Given the description of an element on the screen output the (x, y) to click on. 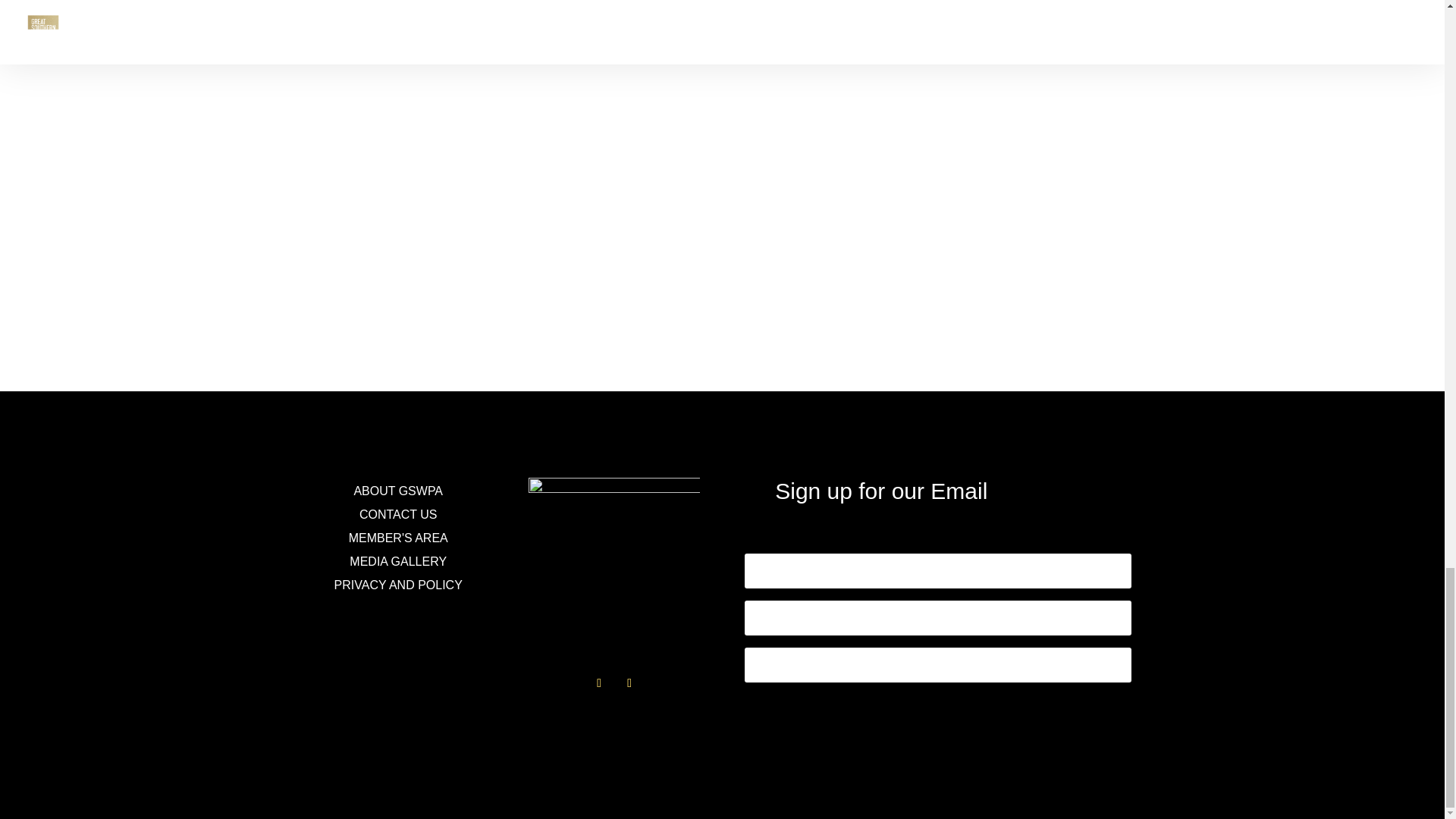
cropped-GSWR-Secondary-Logo-Gold-Reflective.png (613, 562)
Follow on Instagram (629, 682)
Follow on Facebook (598, 682)
